Given the description of an element on the screen output the (x, y) to click on. 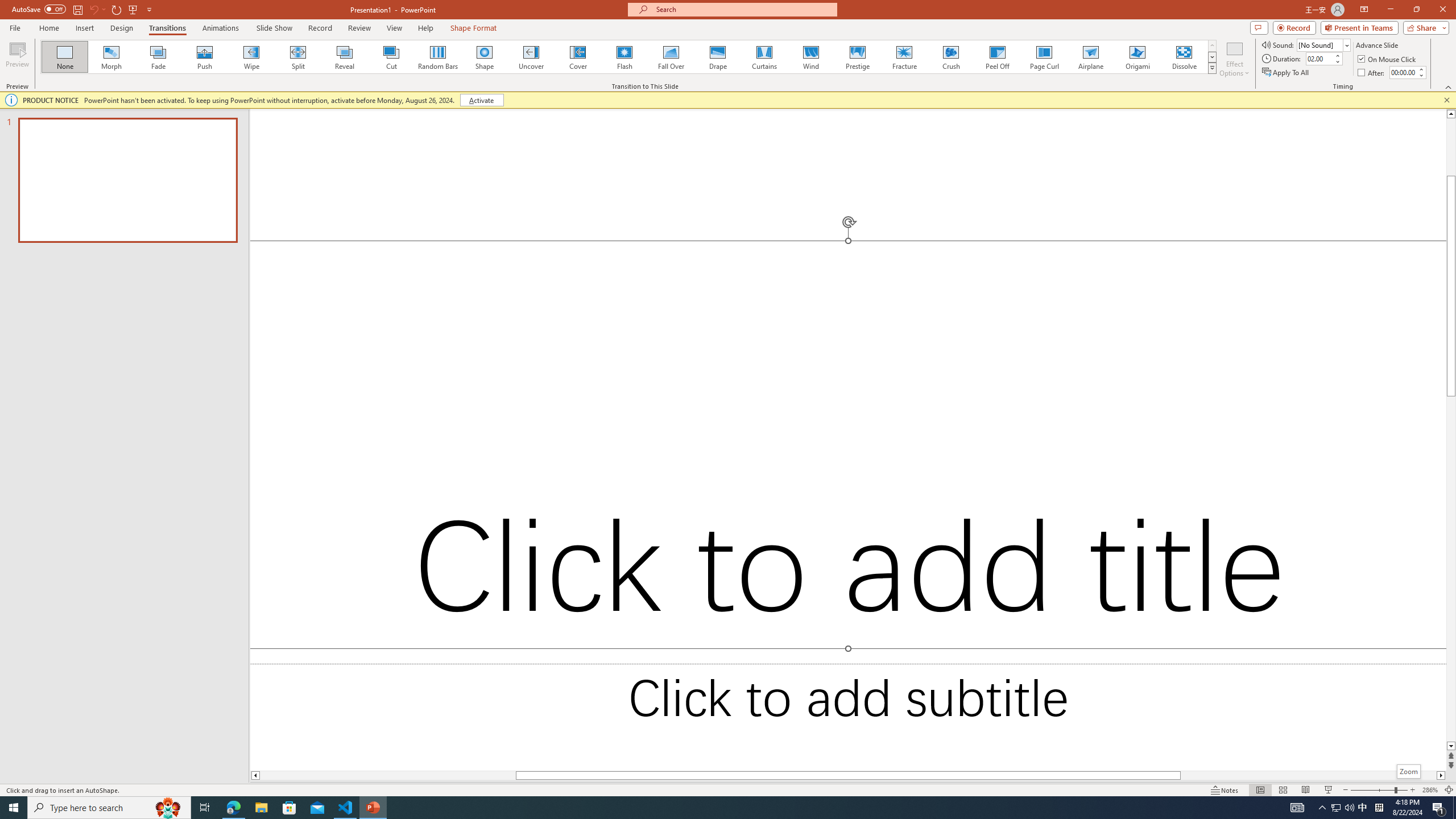
Fall Over (670, 56)
Sound (1324, 44)
Prestige (857, 56)
Fracture (903, 56)
Curtains (764, 56)
Effect Options (1234, 58)
Uncover (531, 56)
Morph (111, 56)
Transition Effects (1212, 67)
